Given the description of an element on the screen output the (x, y) to click on. 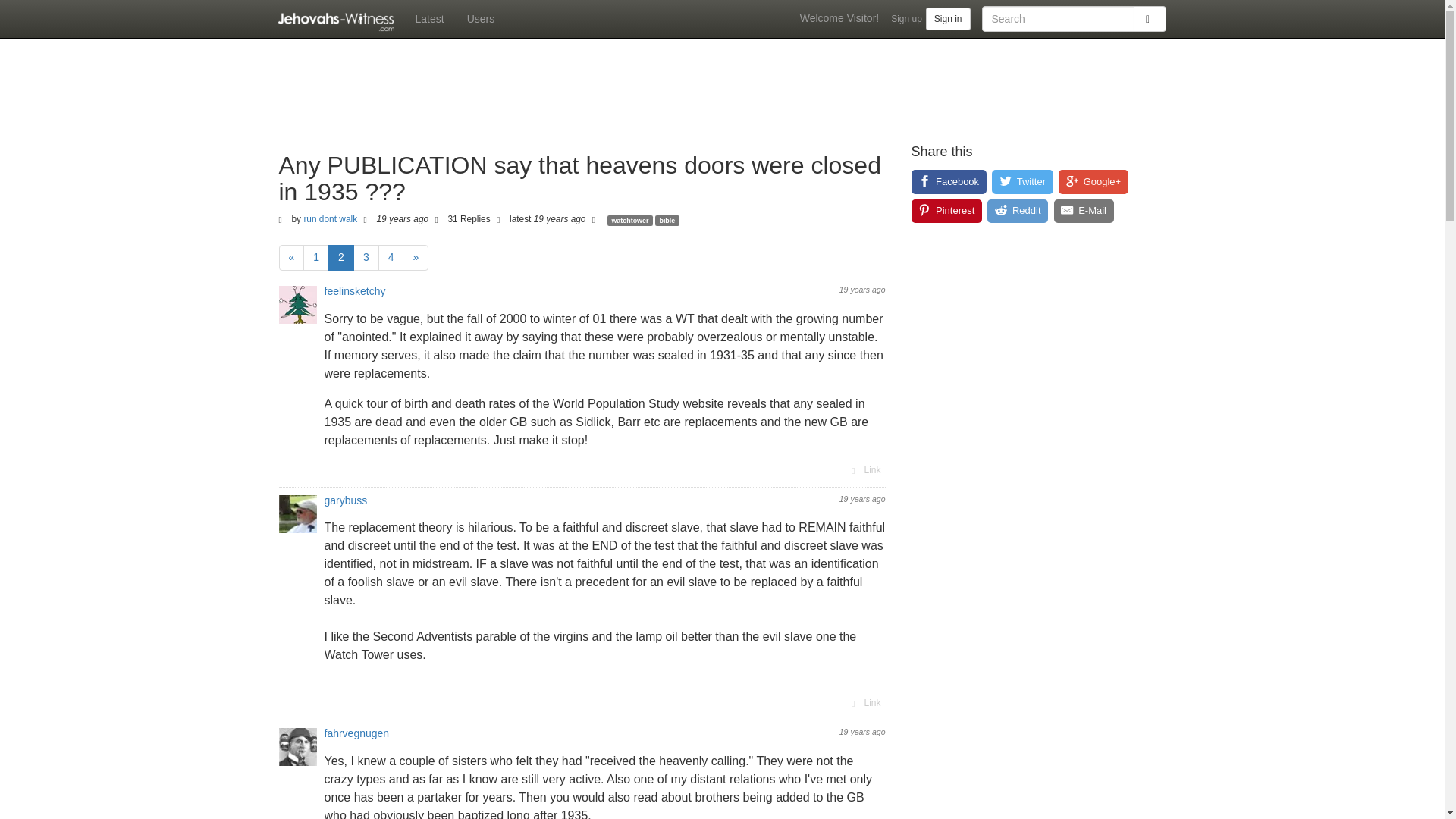
next (415, 257)
run dont walk (329, 218)
Page 2 (341, 257)
Page 4 (391, 257)
Sign in (948, 18)
Latest (428, 18)
1 (315, 257)
feelinsketchy (354, 291)
fahrvegnugen (357, 733)
Tue, Dec 27 2005, 10:05:00 (862, 289)
